Given the description of an element on the screen output the (x, y) to click on. 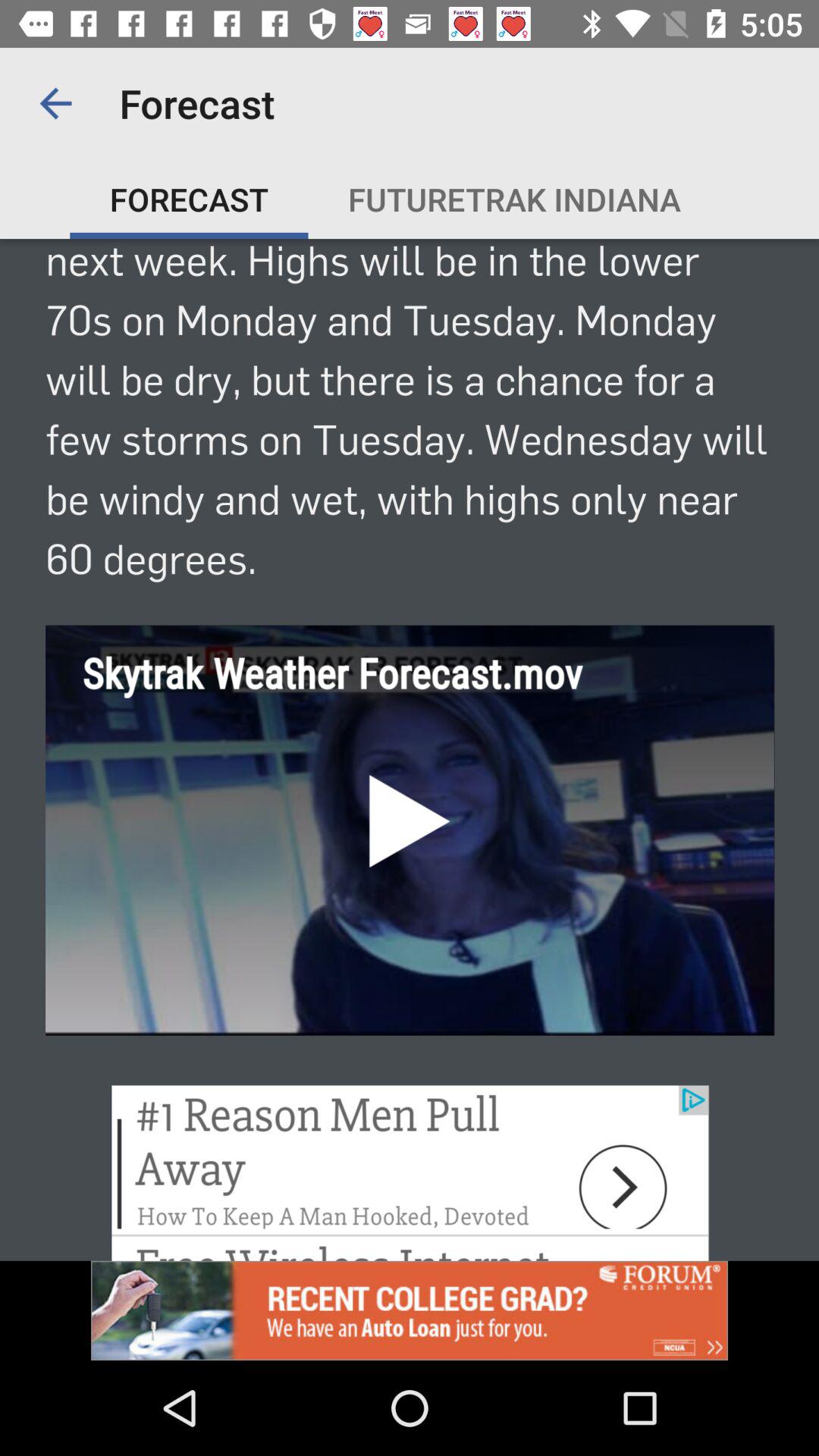
go to advertising site (409, 1310)
